Given the description of an element on the screen output the (x, y) to click on. 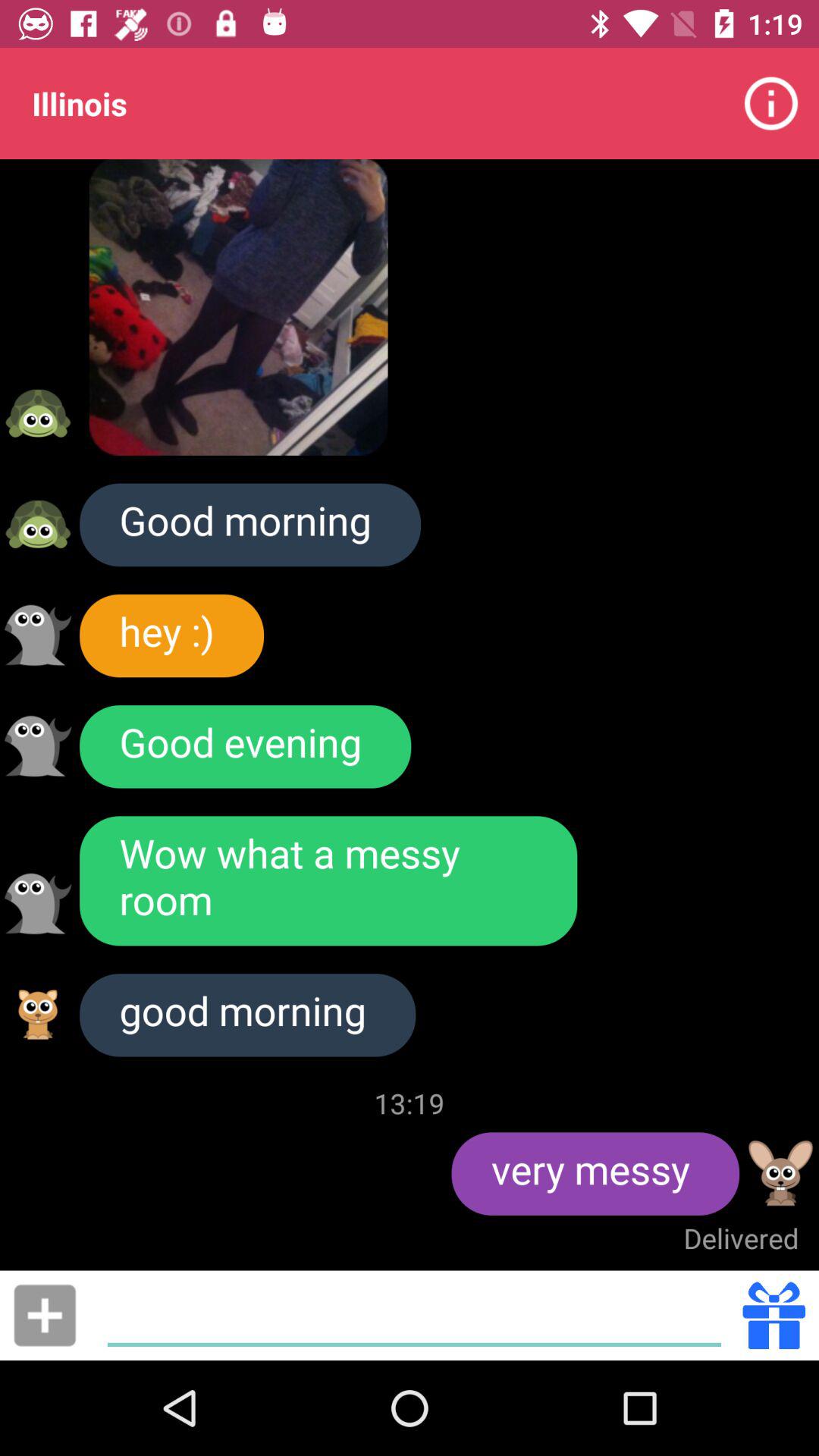
click here to type message (414, 1315)
